Given the description of an element on the screen output the (x, y) to click on. 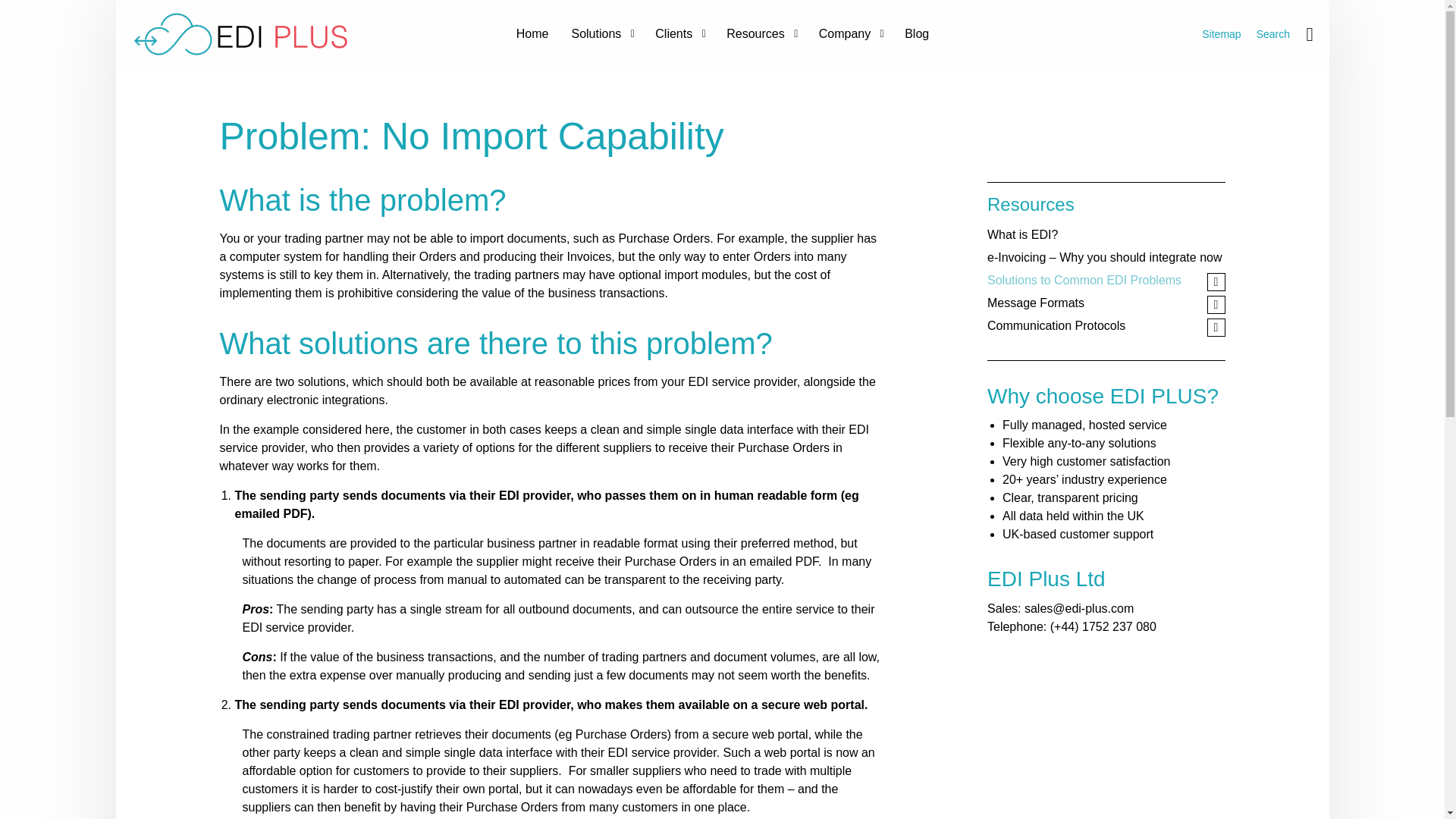
EDI Plus (239, 33)
Solutions (601, 33)
Clients (678, 33)
Resources (760, 33)
Company (849, 33)
